Given the description of an element on the screen output the (x, y) to click on. 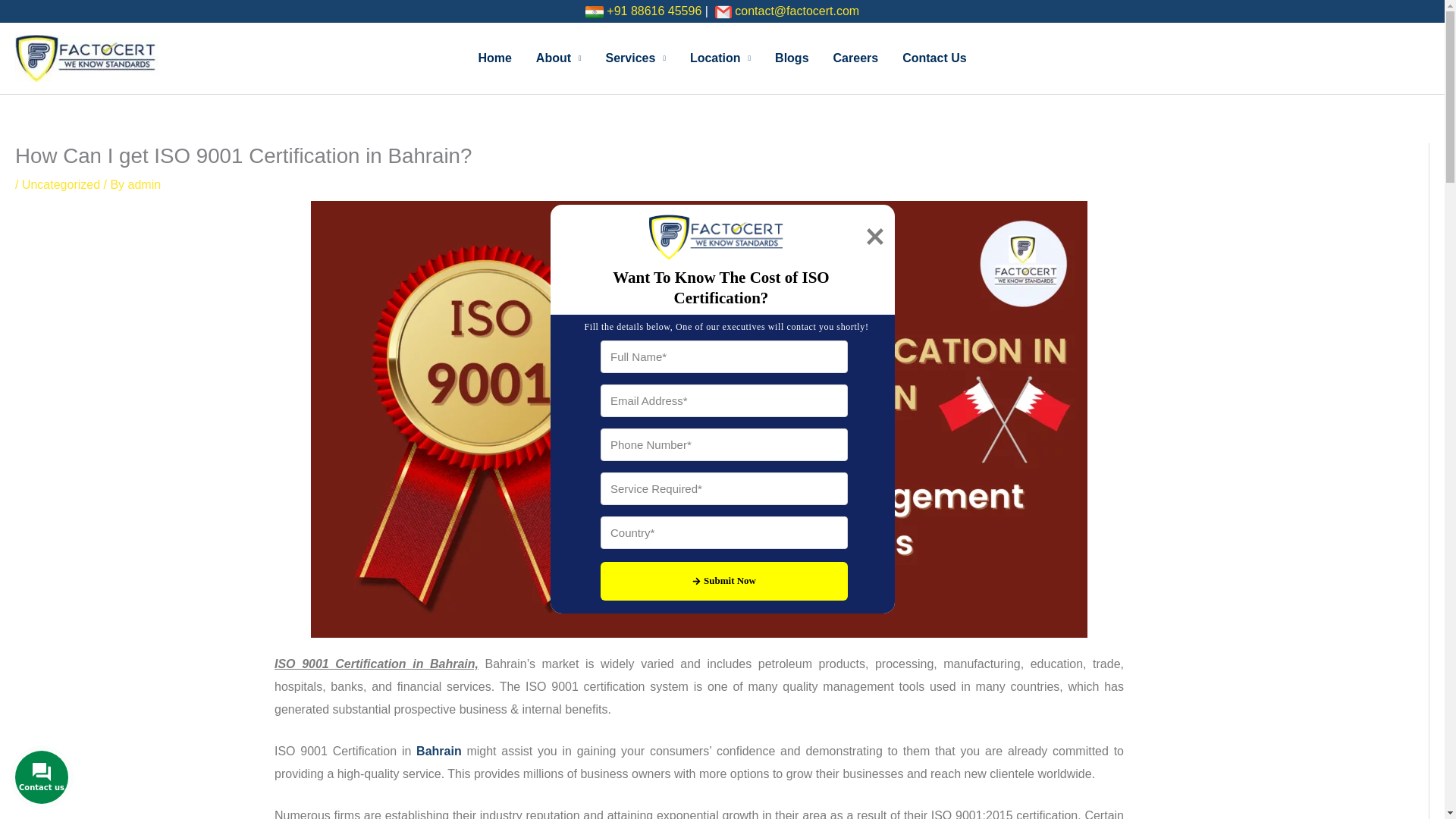
Home (493, 57)
View all posts by admin (144, 184)
About (559, 57)
Services (636, 57)
